Given the description of an element on the screen output the (x, y) to click on. 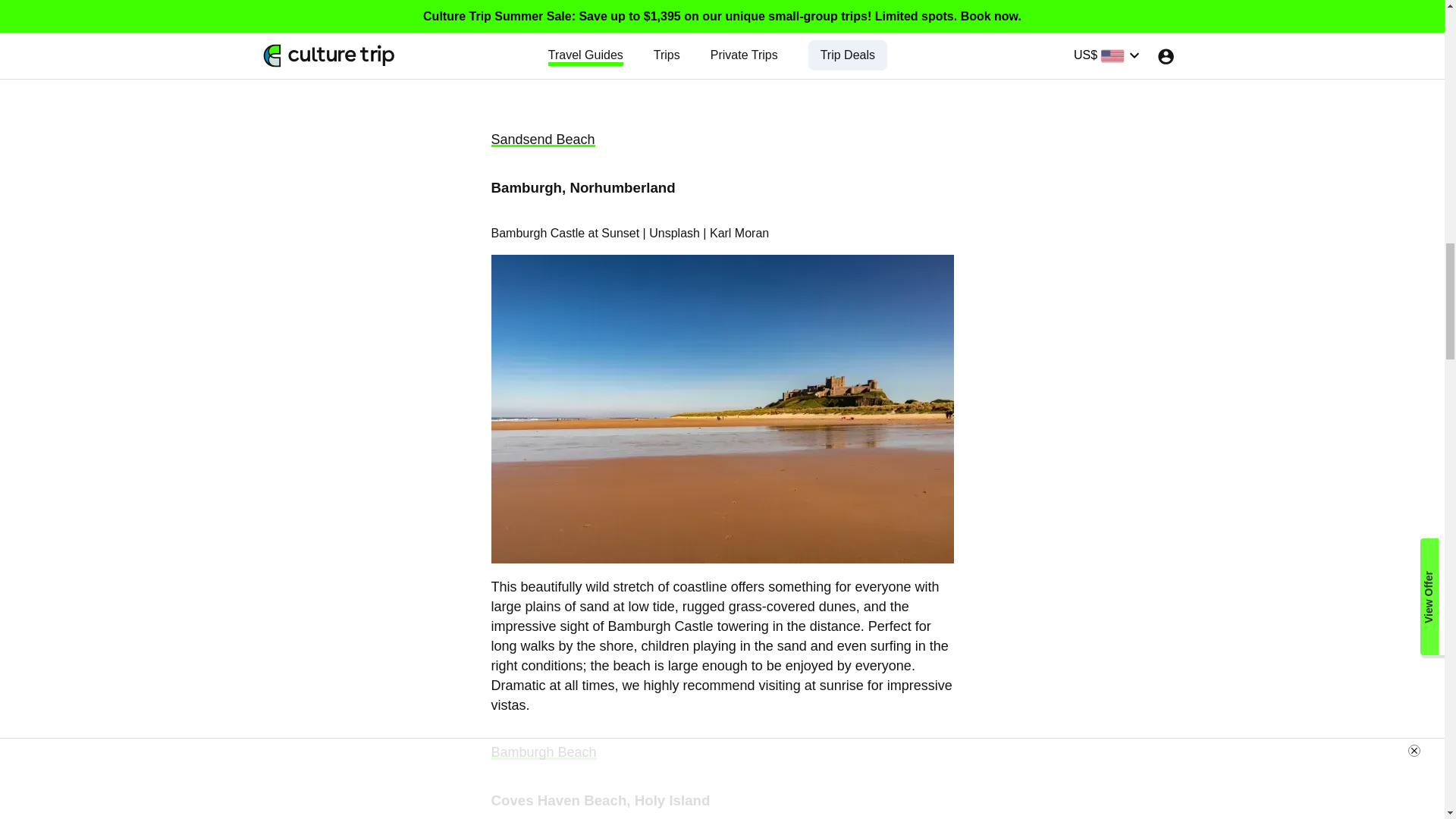
Sandsend Beach (543, 139)
Bamburgh Beach (544, 752)
